Given the description of an element on the screen output the (x, y) to click on. 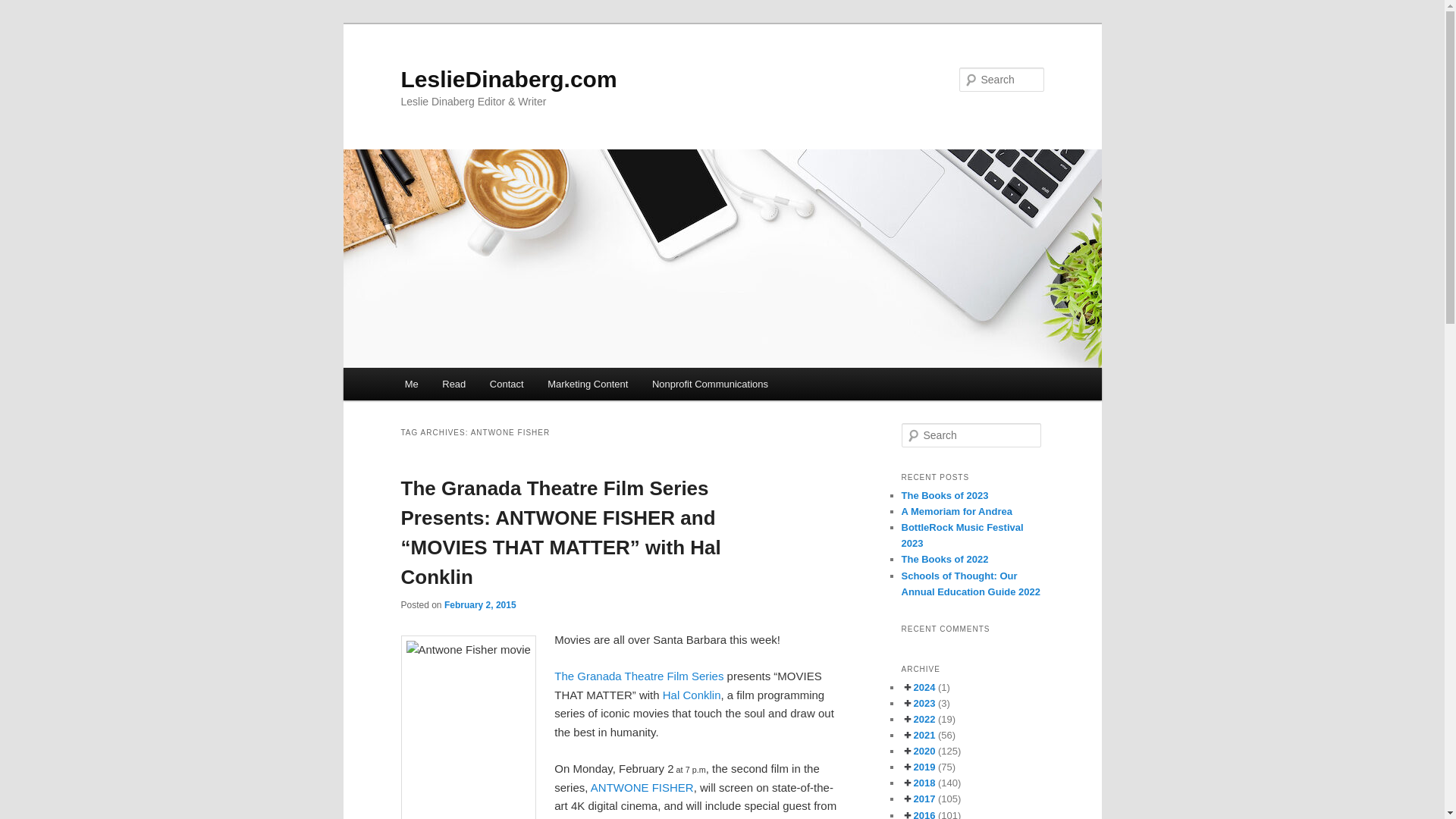
LeslieDinaberg.com (507, 78)
Marketing Content (587, 383)
Contact (506, 383)
February 2, 2015 (480, 604)
ANTWONE FISHER (642, 787)
Nonprofit Communications (710, 383)
The Granada Theatre Film Series (638, 675)
Search (24, 8)
Me (411, 383)
Hal Conklin (691, 694)
5:17 pm (480, 604)
Read (454, 383)
